Given the description of an element on the screen output the (x, y) to click on. 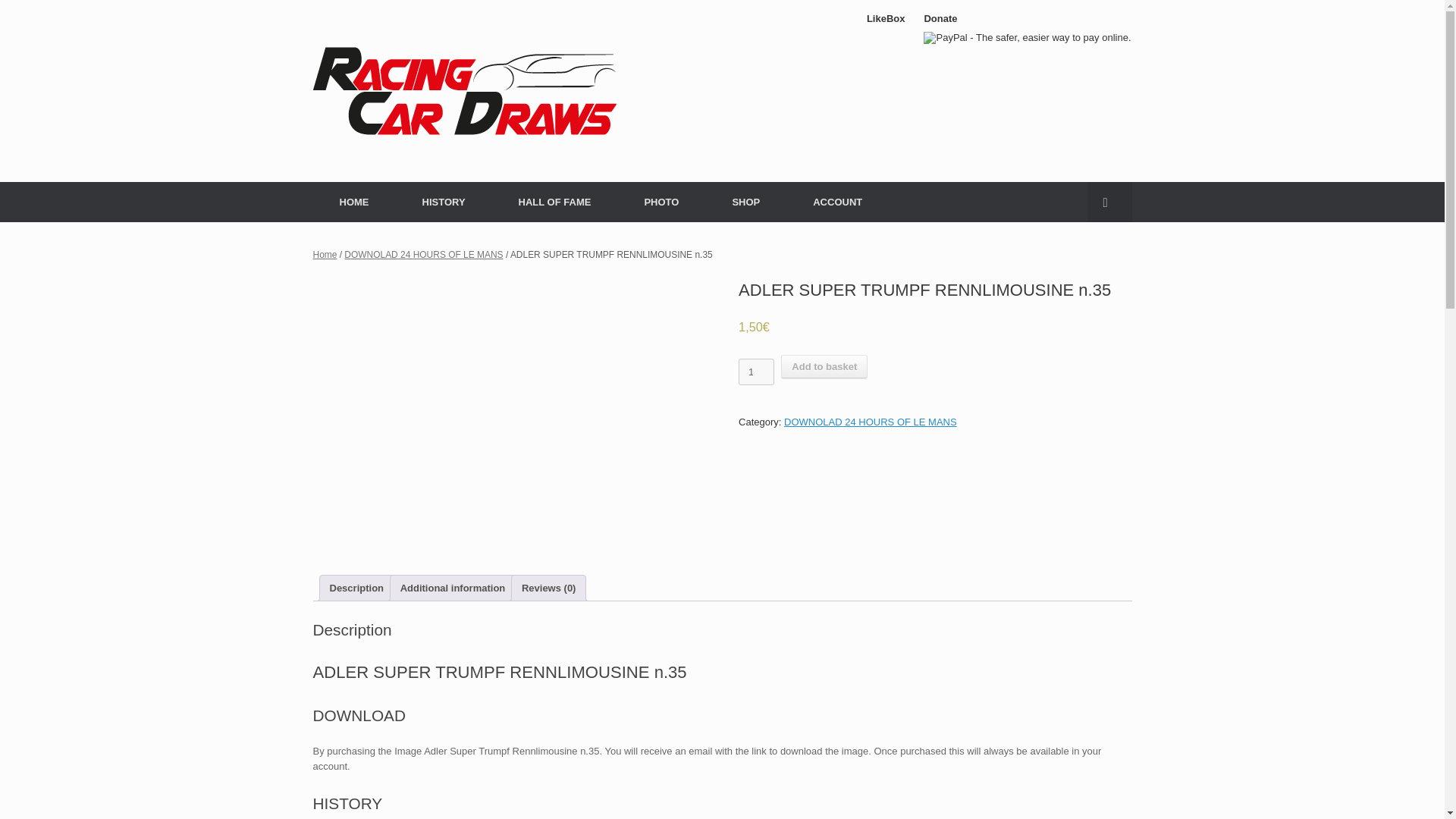
DOWNOLAD 24 HOURS OF LE MANS (422, 254)
HALL OF FAME (554, 201)
1 (756, 371)
ACCOUNT (837, 201)
Description (356, 587)
HISTORY (444, 201)
SHOP (745, 201)
PHOTO (660, 201)
Home (324, 254)
Racing Car Draws (464, 91)
